Given the description of an element on the screen output the (x, y) to click on. 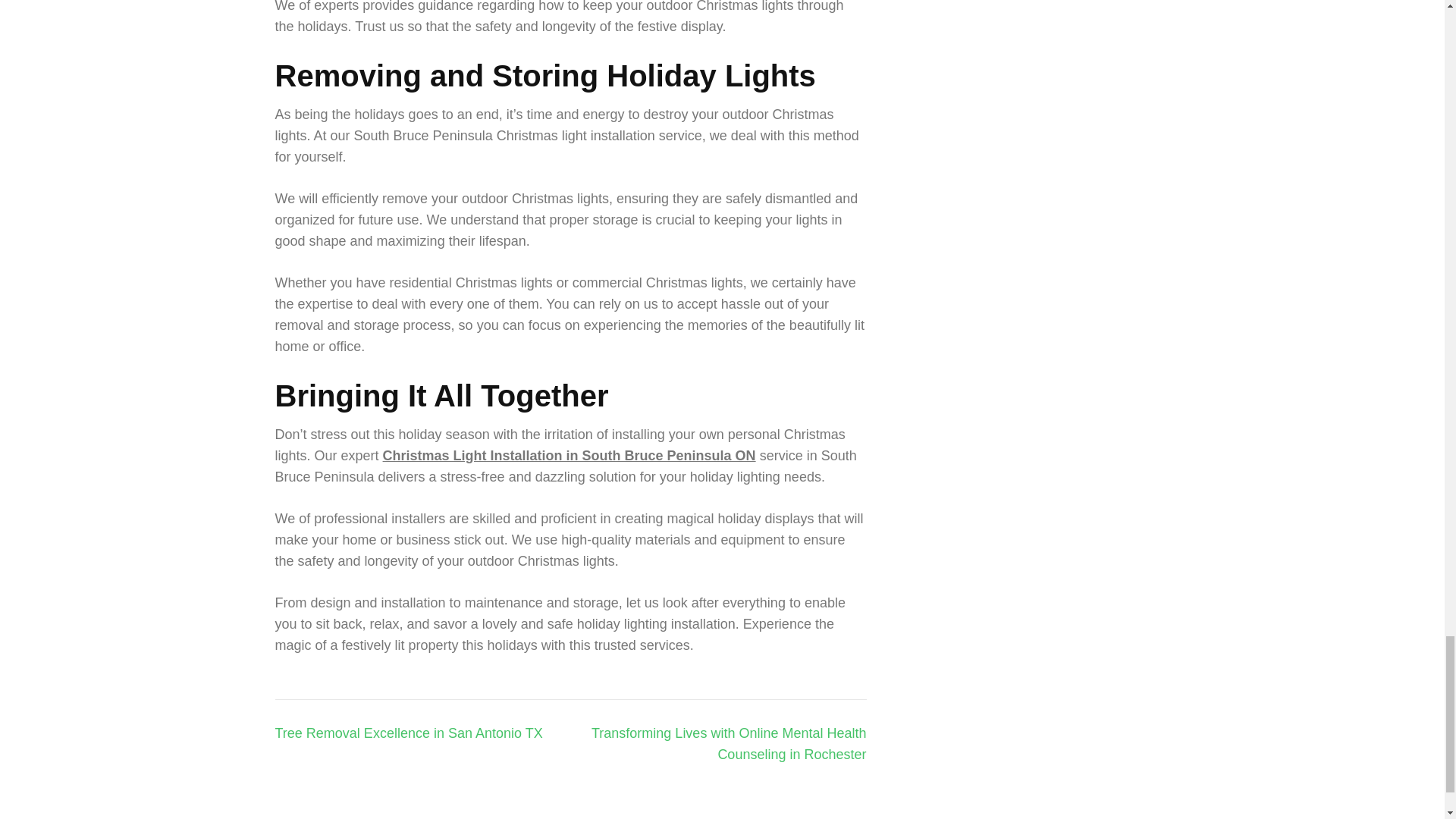
Christmas Light Installation in South Bruce Peninsula ON (568, 455)
Tree Removal Excellence in San Antonio TX (408, 733)
